Given the description of an element on the screen output the (x, y) to click on. 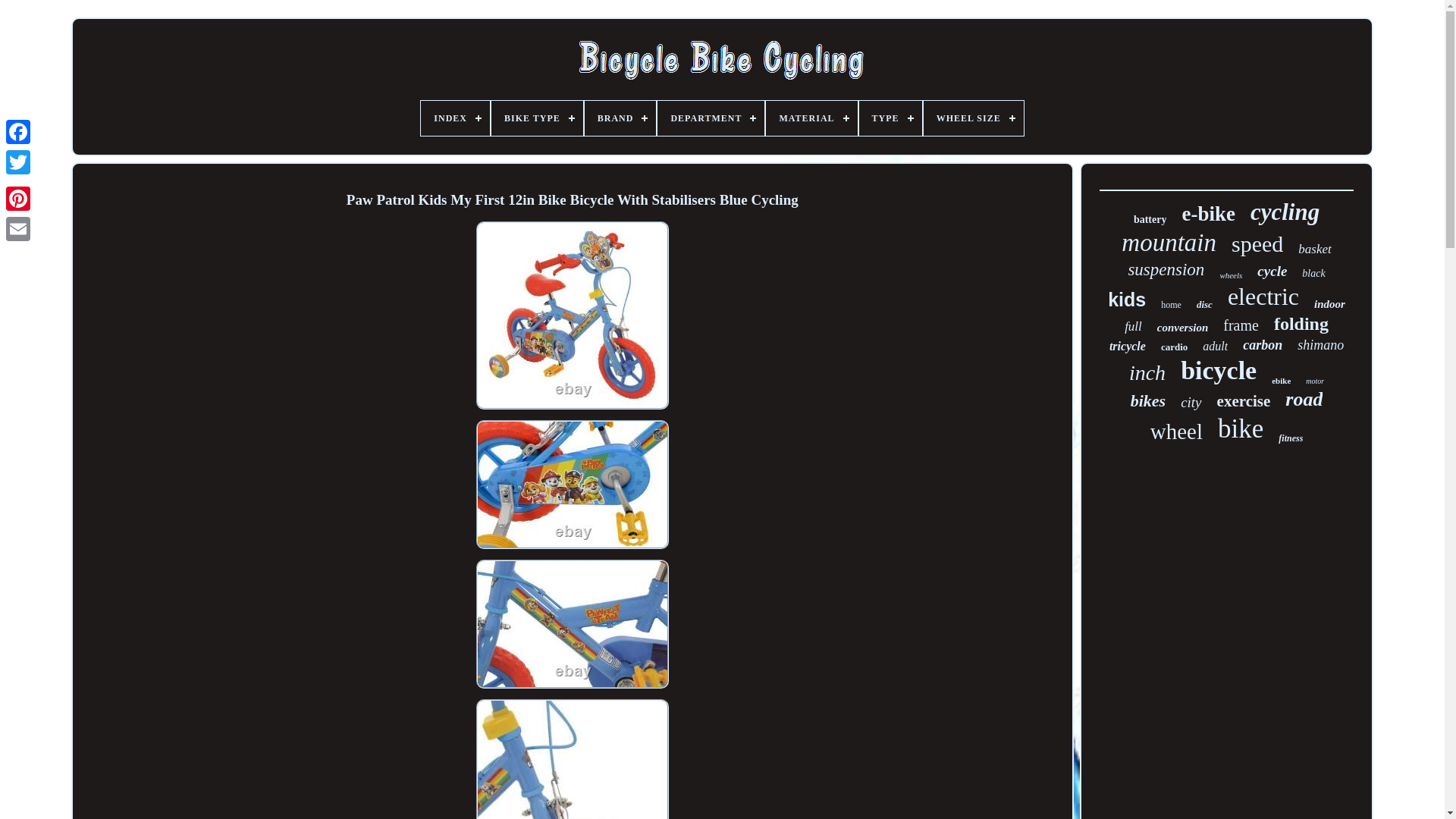
Twitter (17, 162)
BRAND (620, 117)
INDEX (454, 117)
BIKE TYPE (537, 117)
